Given the description of an element on the screen output the (x, y) to click on. 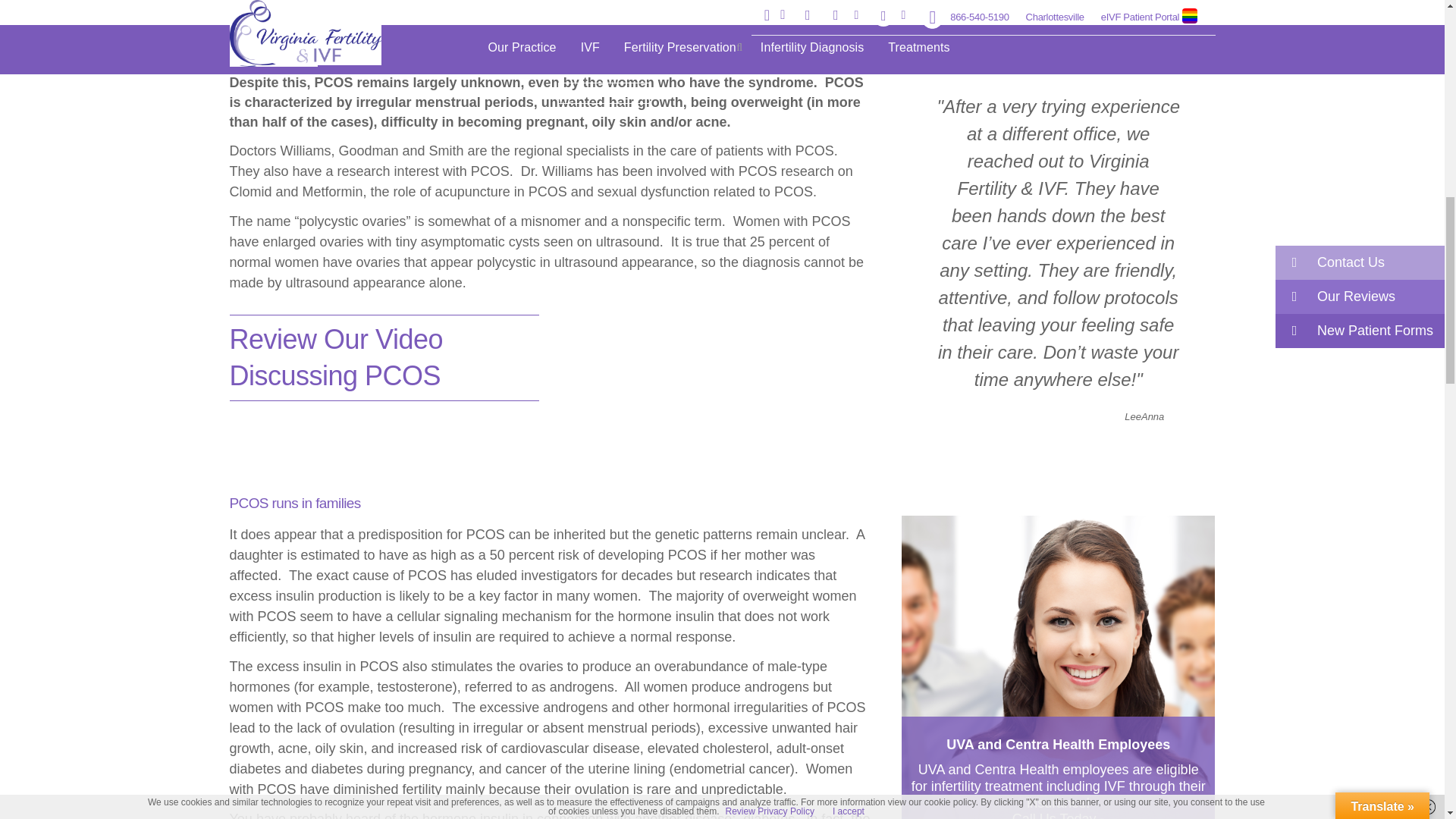
PCOS, Infertility Specialist VA (716, 404)
